Given the description of an element on the screen output the (x, y) to click on. 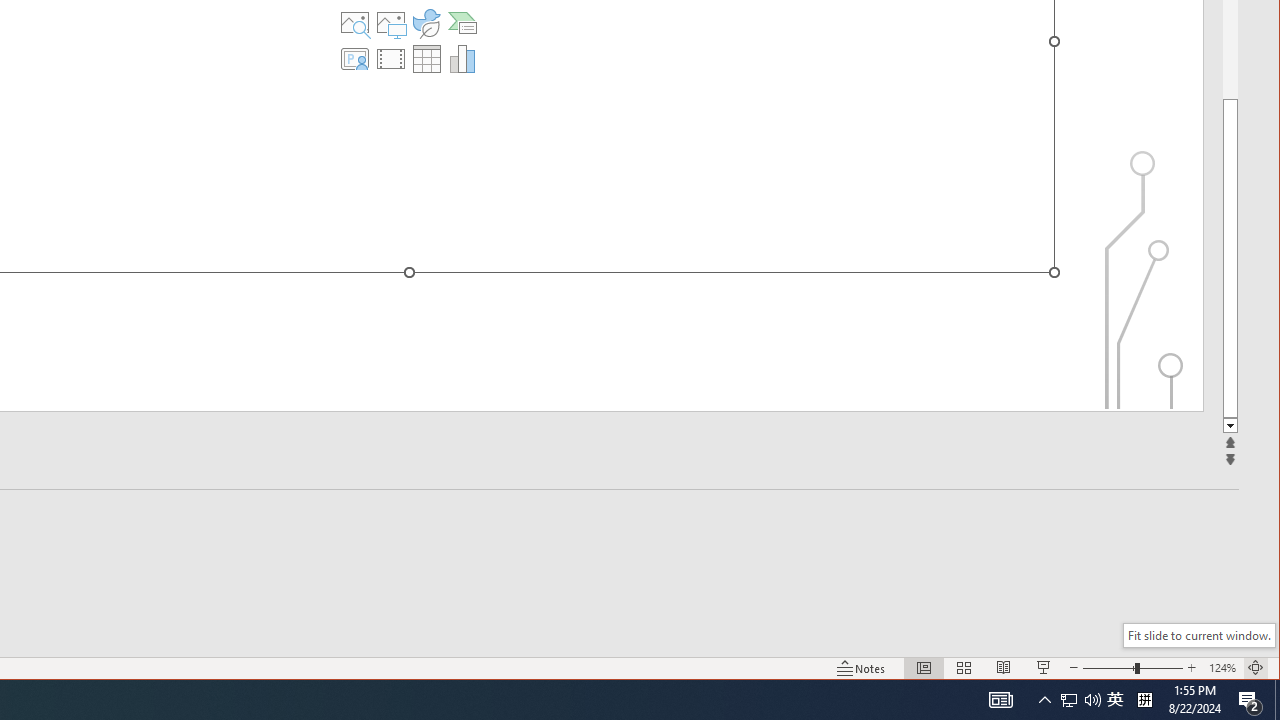
Fit slide to current window. (1199, 635)
